Given the description of an element on the screen output the (x, y) to click on. 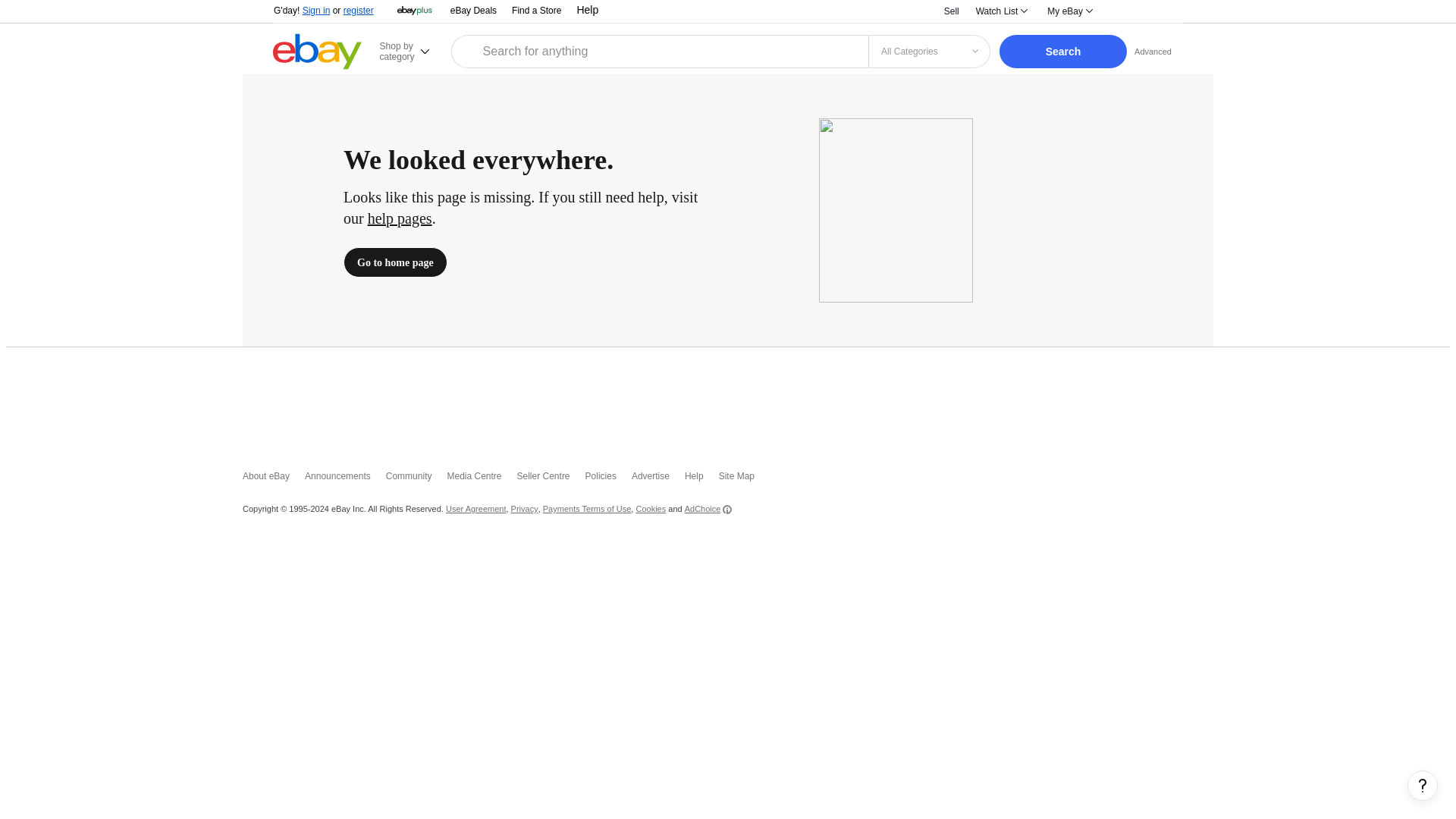
Watch List (1001, 11)
Search (1062, 51)
Advanced search (1152, 51)
Shop by category (413, 51)
Notifications (1122, 11)
ADVERTISEMENT (727, 398)
My eBay (1069, 11)
